Given the description of an element on the screen output the (x, y) to click on. 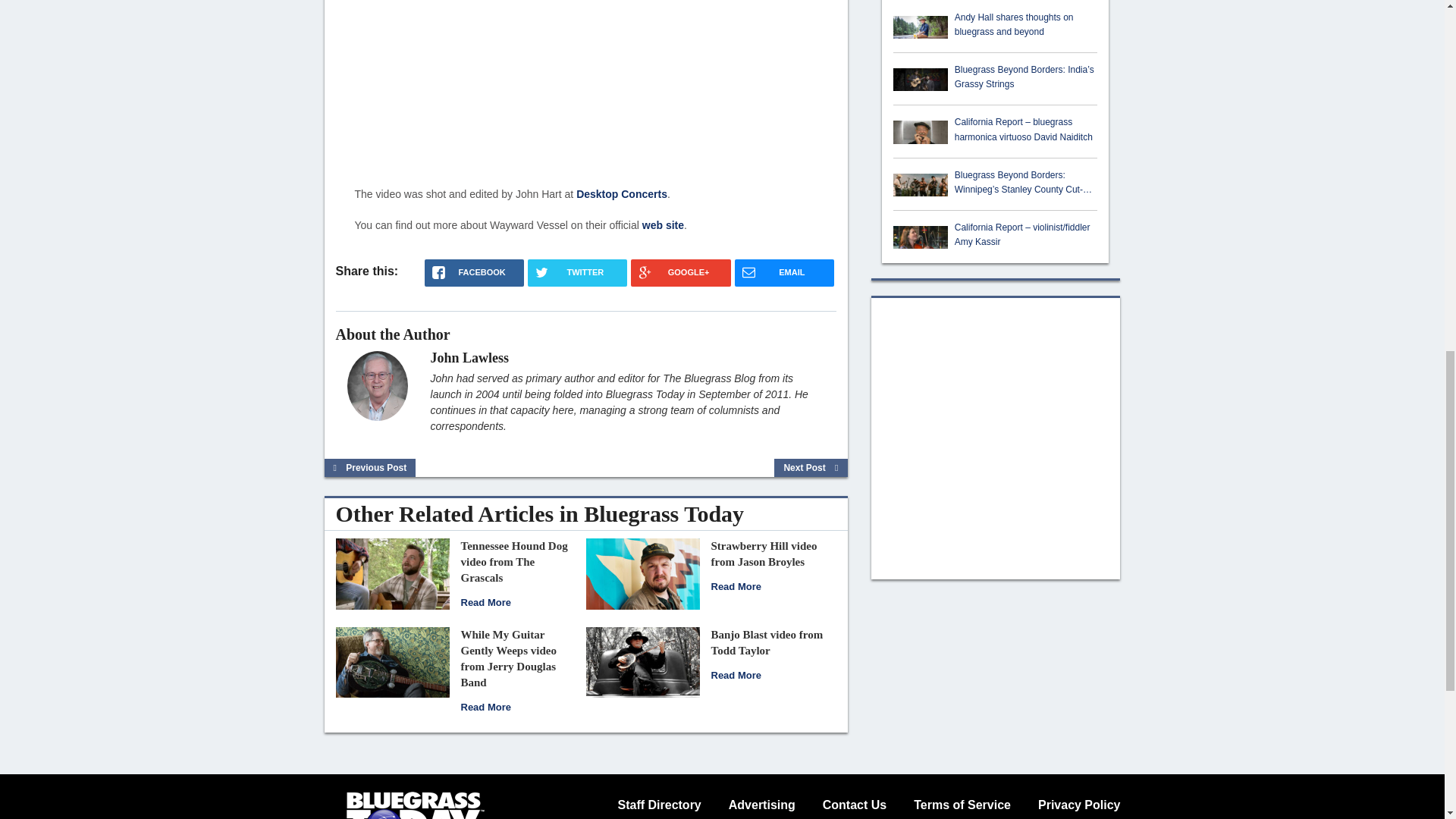
While My Guitar Gently Weeps video from Jerry Douglas Band (486, 706)
Strawberry Hill video from Jason Broyles (641, 572)
Desktop Concerts (621, 193)
web site (663, 224)
While My Guitar Gently Weeps video from Jerry Douglas Band (391, 661)
FACEBOOK (474, 272)
While My Guitar Gently Weeps video from Jerry Douglas Band (508, 658)
Tennessee Hound Dog video from The Grascals (391, 572)
Visit Wayward Vessel online (663, 224)
Strawberry Hill video from Jason Broyles (763, 553)
Visit Desktop Concerts online (621, 193)
Banjo Blast video from Todd Taylor (641, 661)
Tennessee Hound Dog video from The Grascals (486, 602)
Tennessee Hound Dog video from The Grascals (514, 561)
TWITTER (577, 272)
